Given the description of an element on the screen output the (x, y) to click on. 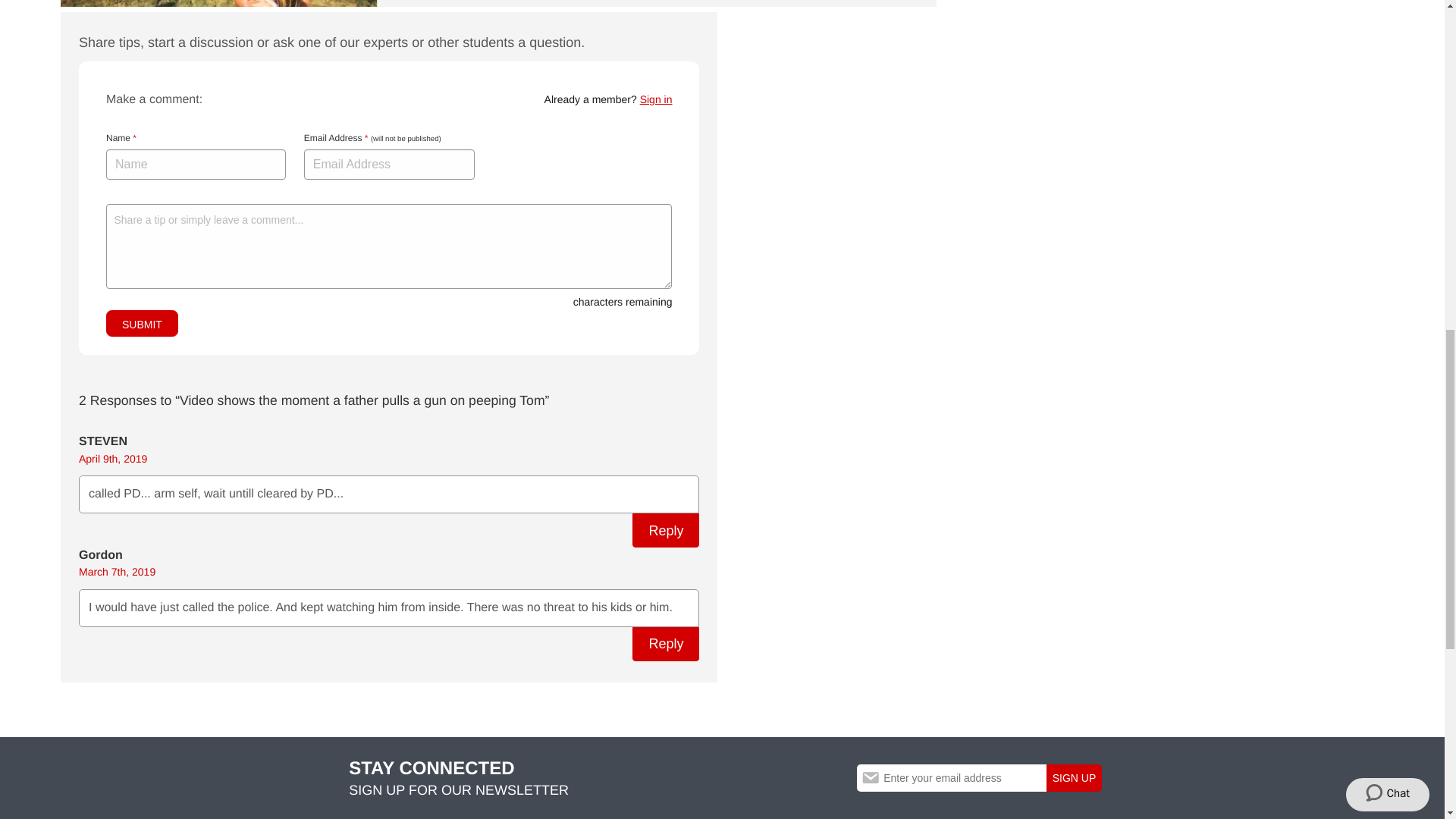
Sign Up (1074, 777)
Sign in (656, 99)
Submit (141, 323)
Reply (664, 643)
Sign Up (1074, 777)
Reply (664, 530)
Submit (141, 323)
